Given the description of an element on the screen output the (x, y) to click on. 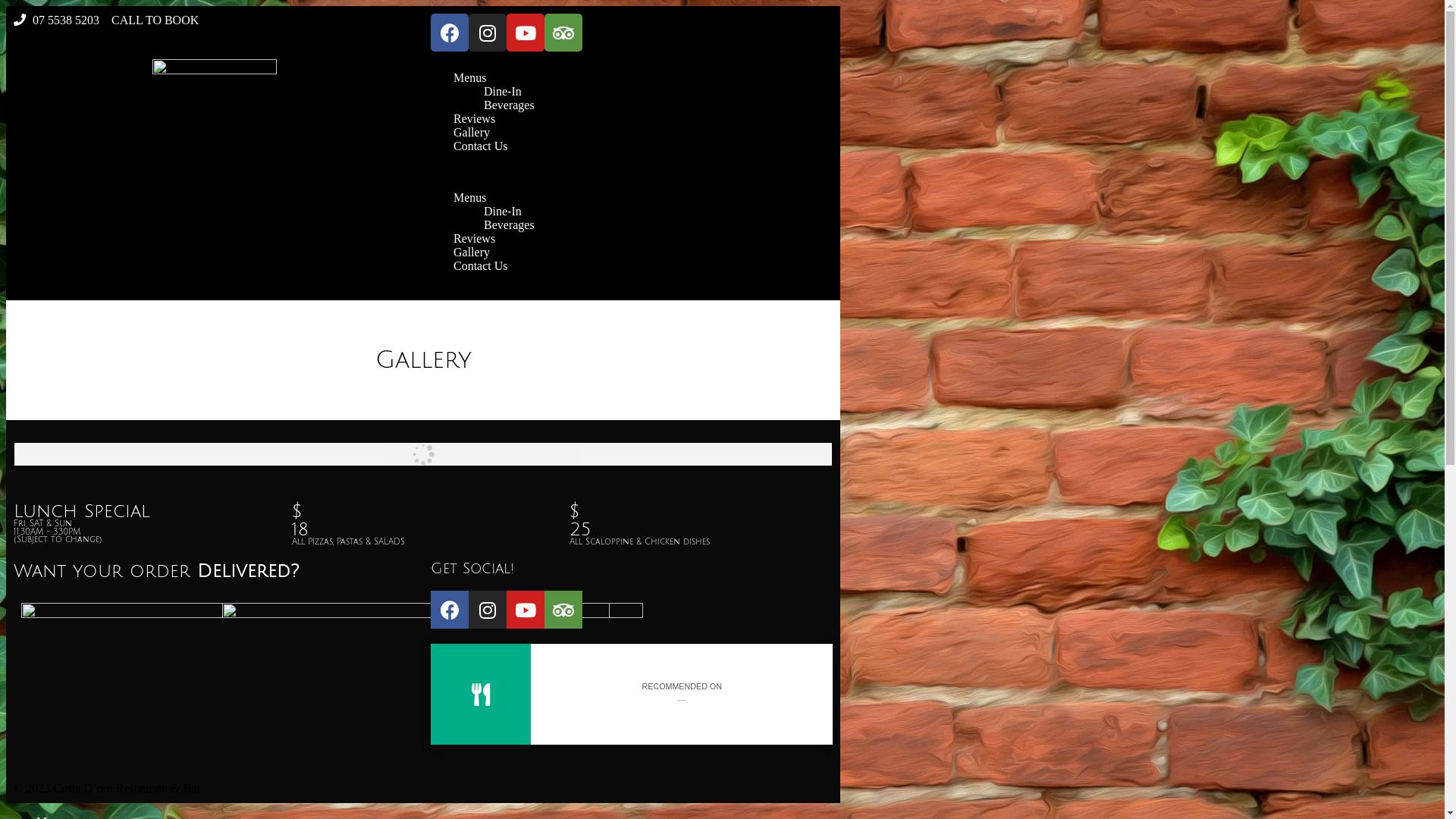
Menus Element type: text (469, 197)
Beverages Element type: text (508, 224)
07 5538 5203 Element type: text (56, 20)
Dine-In Element type: text (502, 90)
Beverages Element type: text (508, 104)
Contact Us Element type: text (480, 145)
CALL TO BOOK Element type: text (154, 20)
Gallery Element type: text (471, 131)
Reviews Element type: text (474, 118)
Menus Element type: text (469, 77)
Contact Us Element type: text (480, 265)
RECOMMENDED ON Element type: text (681, 685)
Reviews Element type: text (474, 238)
Dine-In Element type: text (502, 210)
Gallery Element type: text (471, 251)
